Given the description of an element on the screen output the (x, y) to click on. 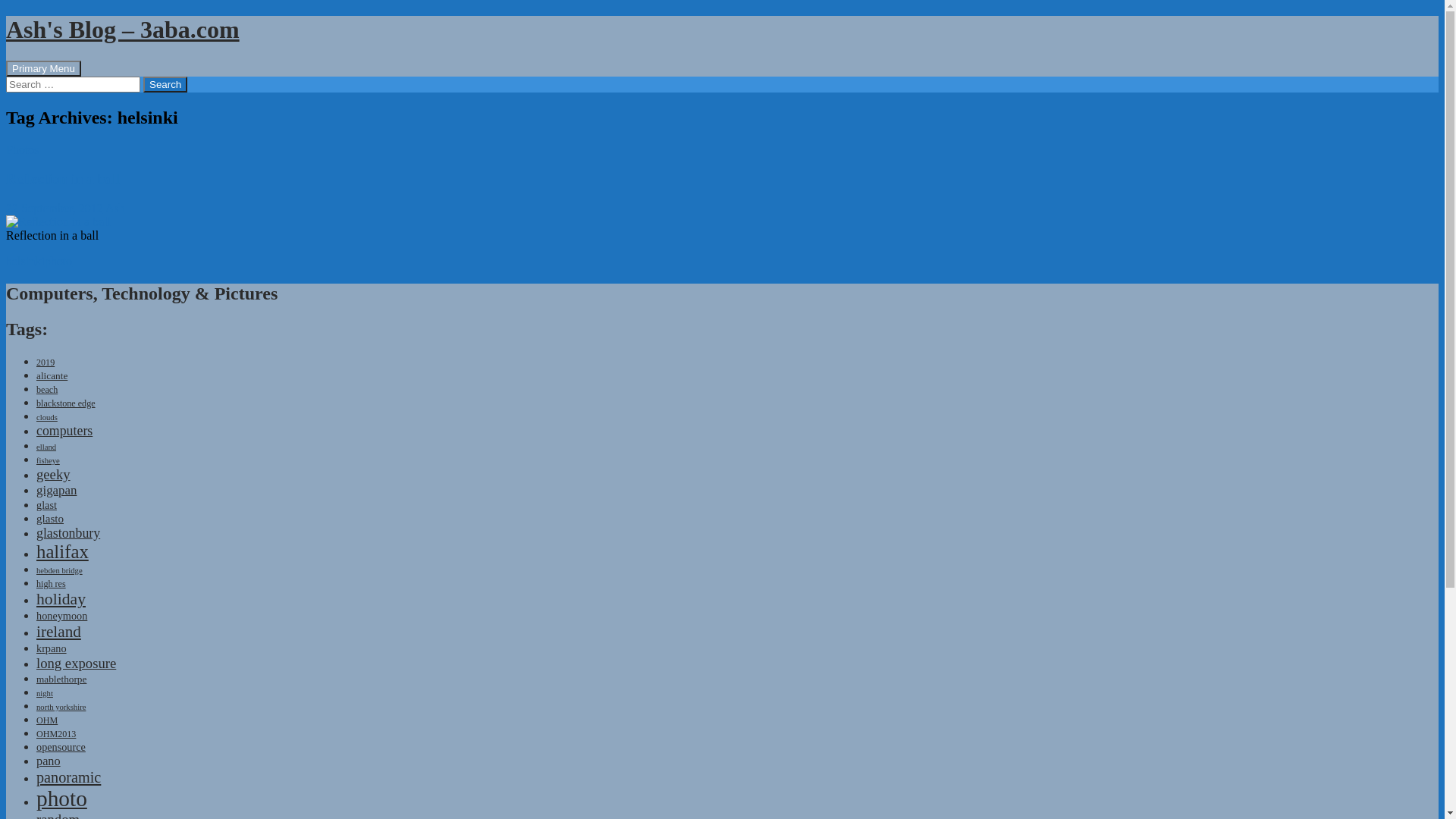
halifax Element type: text (62, 551)
alicante Element type: text (51, 375)
22 September, 2012 Element type: text (54, 207)
Reflection in a ball Element type: hover (58, 222)
glast Element type: text (46, 504)
Skip to content Element type: text (80, 59)
ireland Element type: text (58, 631)
photo Element type: text (61, 798)
2019 Element type: text (45, 362)
Search Element type: text (165, 84)
Primary Menu Element type: text (43, 68)
OHM Element type: text (46, 720)
high res Element type: text (50, 583)
elland Element type: text (46, 446)
photo Element type: text (58, 260)
north yorkshire Element type: text (60, 706)
Search Element type: text (5, 59)
hebden bridge Element type: text (59, 570)
panoramic Element type: text (68, 776)
honeymoon Element type: text (61, 615)
fisheye Element type: text (47, 460)
computers Element type: text (64, 430)
Photos Element type: text (22, 149)
beach Element type: text (46, 389)
long exposure Element type: text (76, 663)
glasto Element type: text (49, 518)
geeky Element type: text (53, 474)
Reflection in a ball Element type: text (62, 178)
clouds Element type: text (46, 417)
mablethorpe Element type: text (61, 678)
krpano Element type: text (51, 648)
helsinki Element type: text (25, 260)
opensource Element type: text (60, 746)
pano Element type: text (48, 760)
holiday Element type: text (60, 598)
gigapan Element type: text (56, 490)
glastonbury Element type: text (68, 532)
blackstone edge Element type: text (65, 403)
OHM2013 Element type: text (55, 733)
Ash Element type: text (115, 207)
night Element type: text (44, 693)
